Given the description of an element on the screen output the (x, y) to click on. 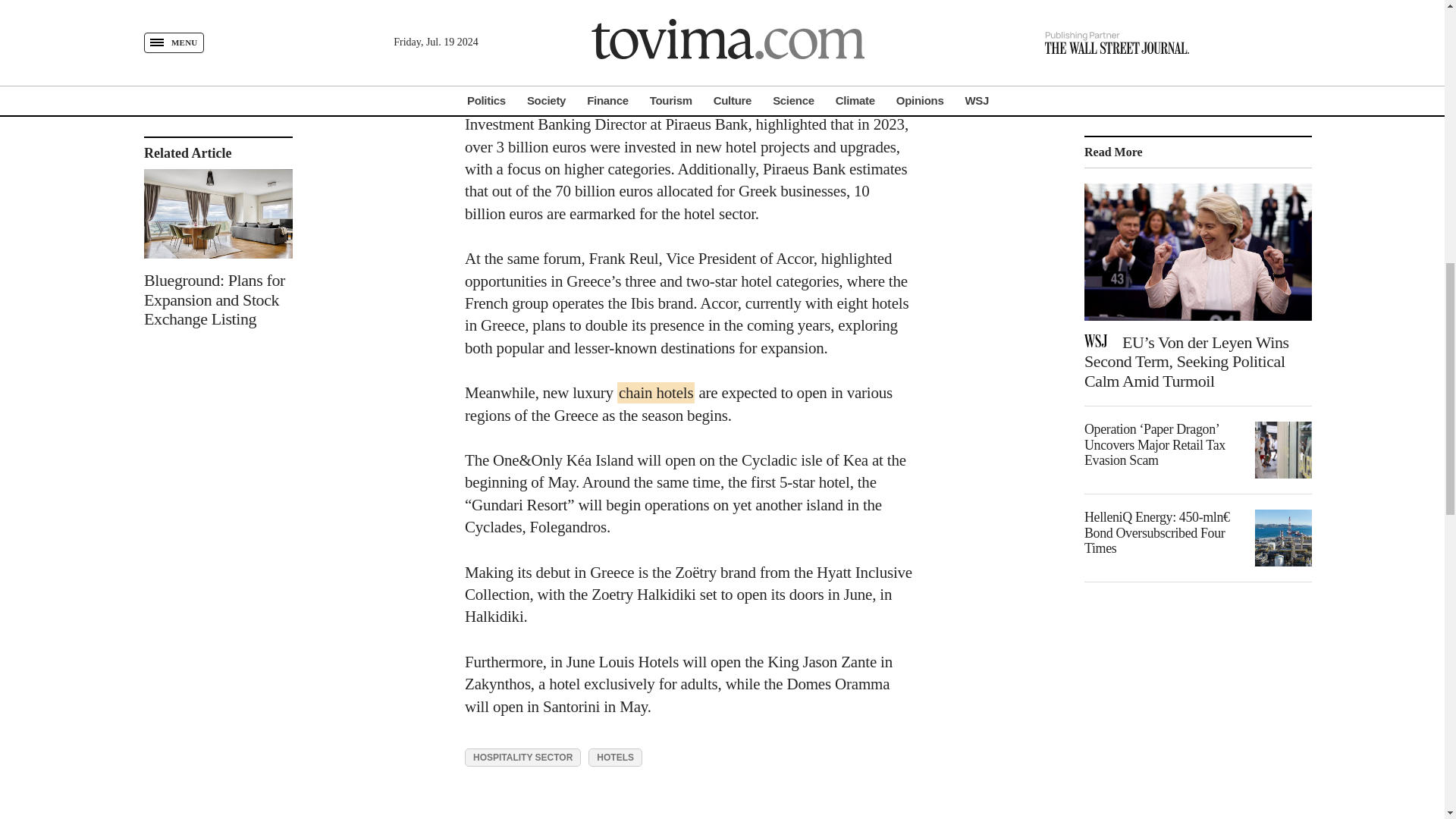
Blueground: Plans for Expansion and Stock Exchange Listing (218, 163)
